Given the description of an element on the screen output the (x, y) to click on. 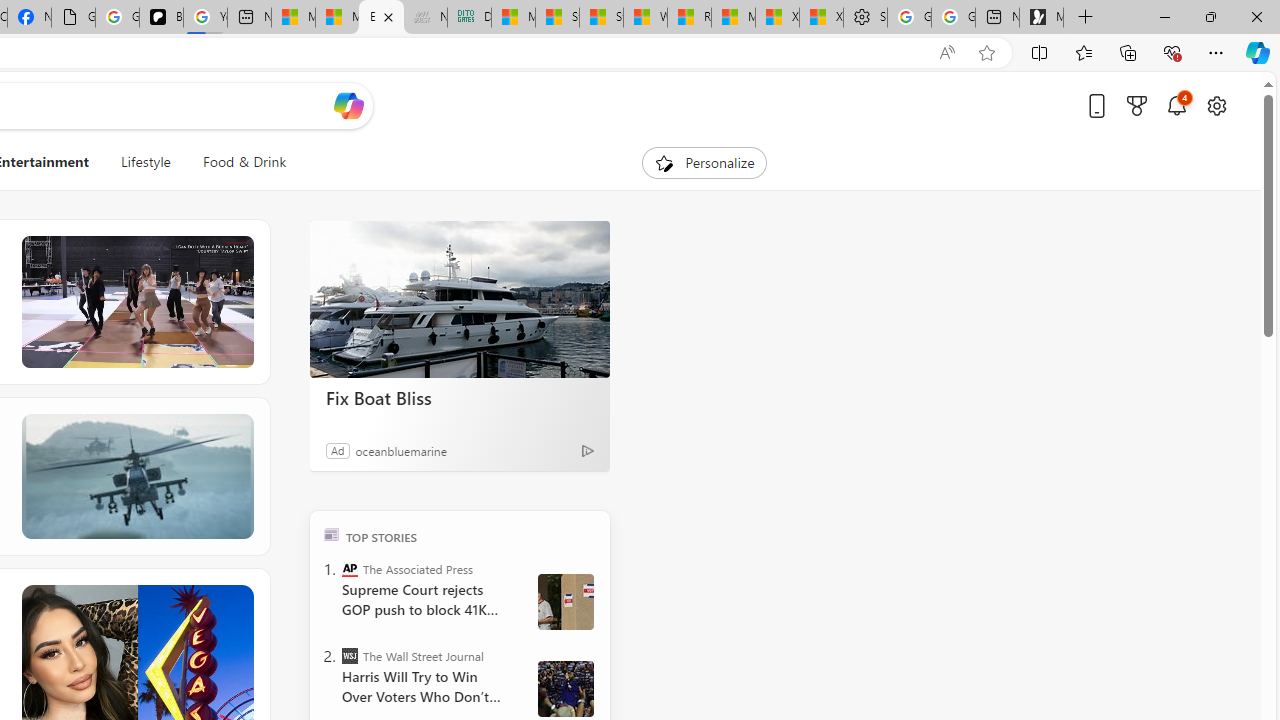
Lifestyle (145, 162)
Food & Drink (235, 162)
Google Analytics Opt-out Browser Add-on Download Page (73, 17)
Microsoft Start Gaming (1041, 17)
TOP (331, 534)
The Associated Press (349, 568)
Personalize (703, 162)
